Given the description of an element on the screen output the (x, y) to click on. 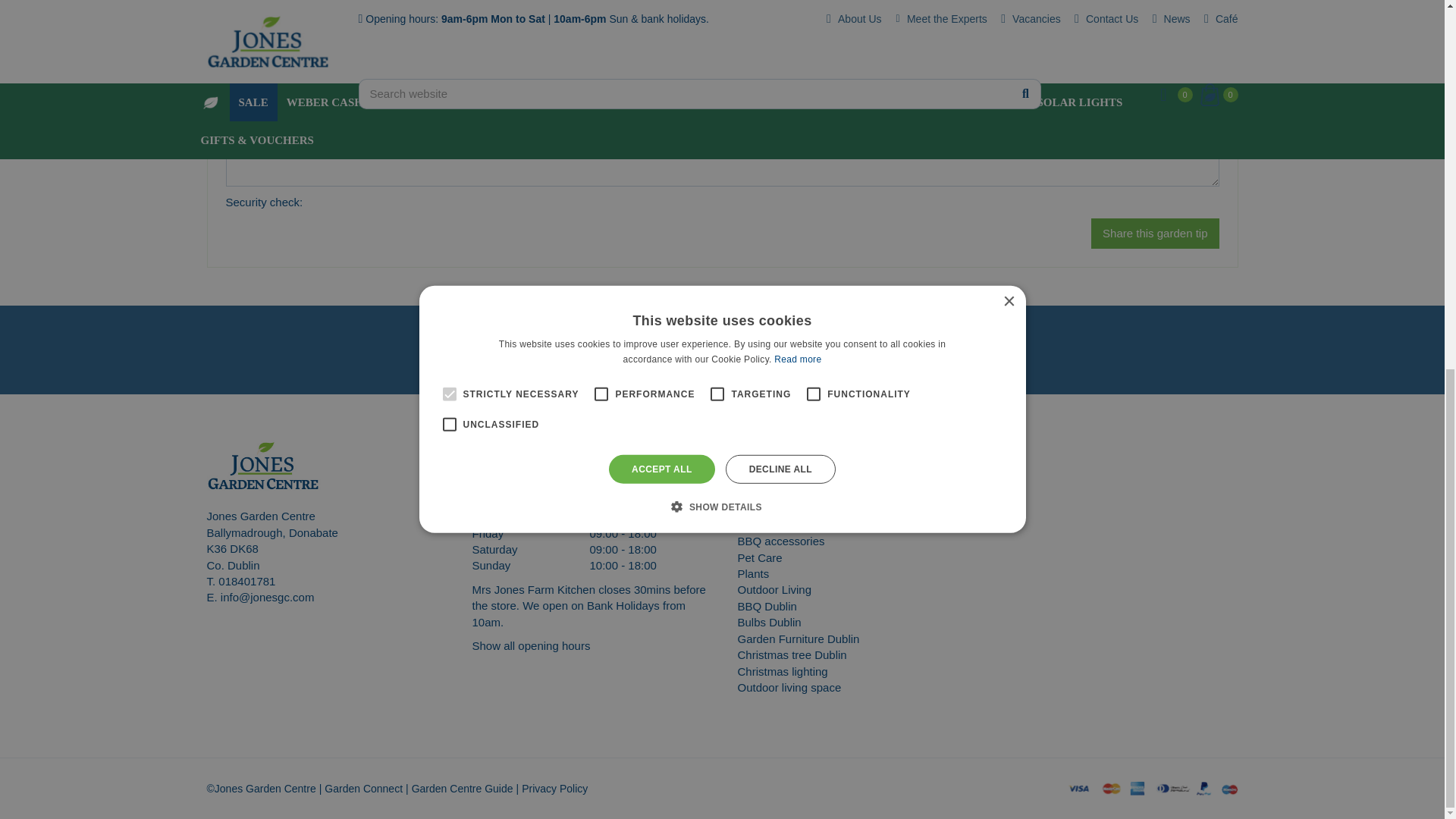
Share this garden tip (1154, 233)
